Given the description of an element on the screen output the (x, y) to click on. 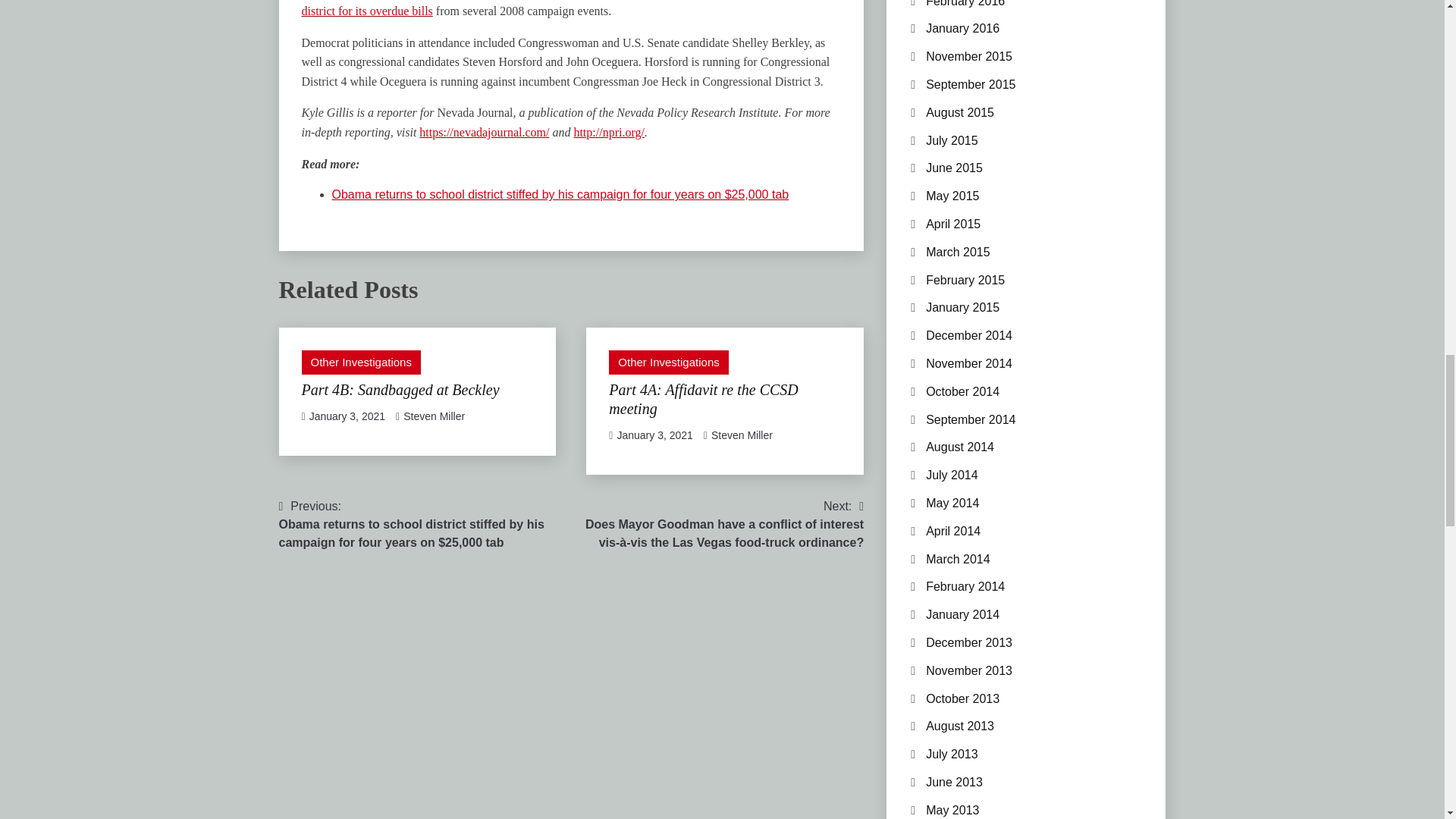
finally paid the district for its overdue bills (562, 8)
